Given the description of an element on the screen output the (x, y) to click on. 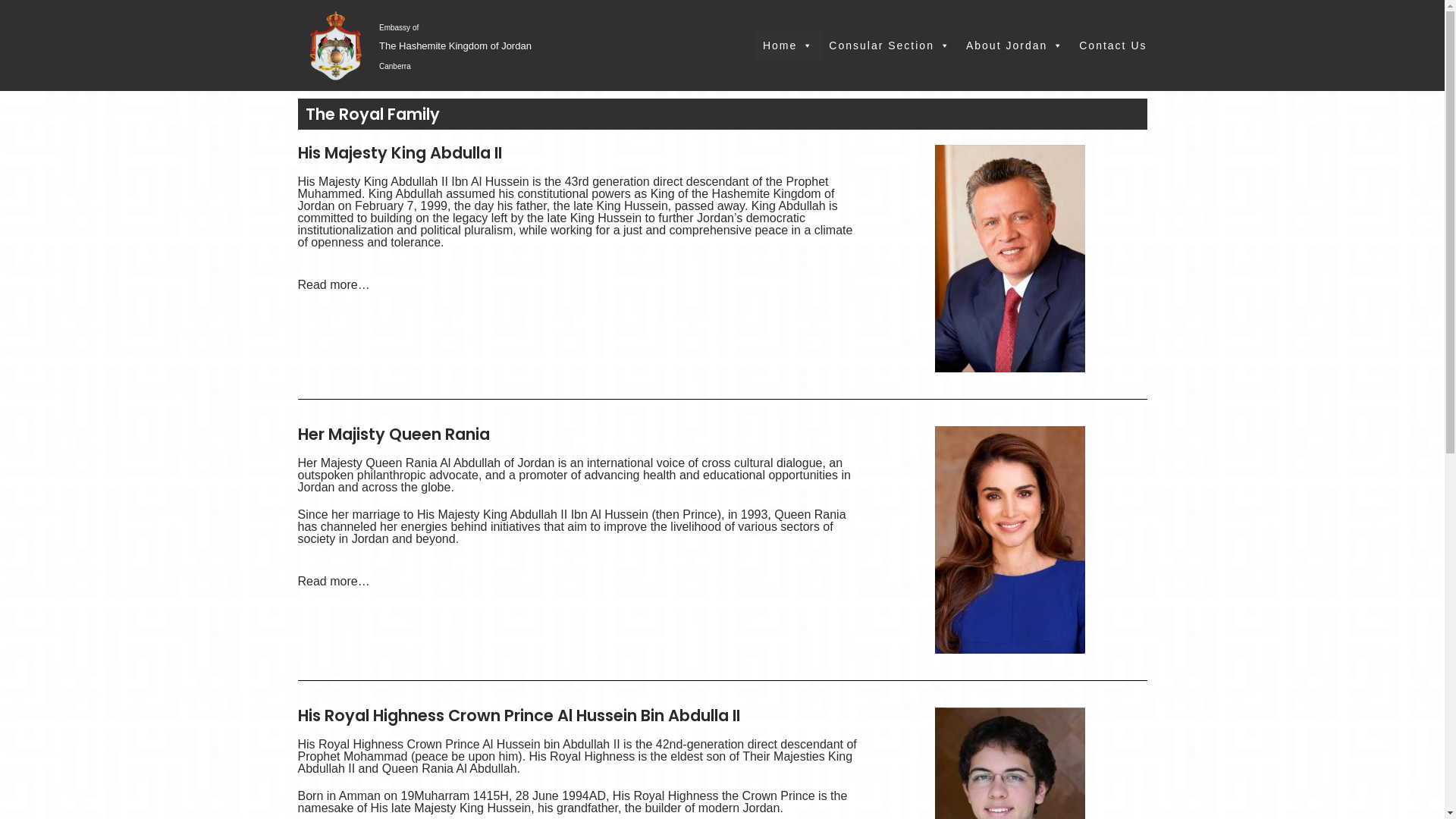
Consular Section Element type: text (889, 45)
Skip to content Element type: text (15, 7)
About Jordan Element type: text (1014, 45)
Embassy of Jordan in Canberra Element type: hover (334, 45)
Contact Us Element type: text (1112, 45)
Home Element type: text (788, 45)
